Given the description of an element on the screen output the (x, y) to click on. 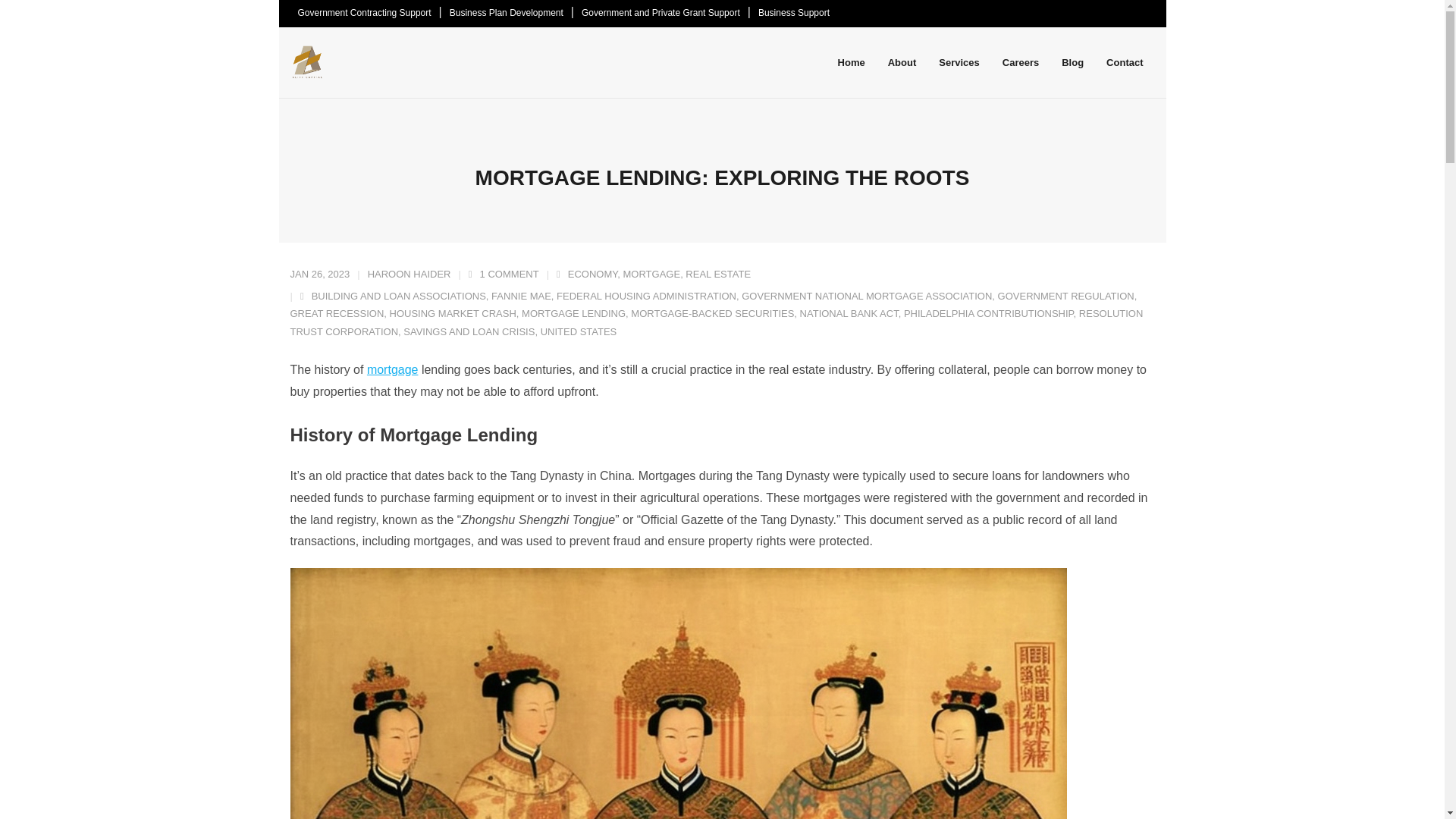
FANNIE MAE (521, 296)
JAN 26, 2023 (319, 274)
GOVERNMENT NATIONAL MORTGAGE ASSOCIATION (866, 296)
MORTGAGE (652, 274)
BUILDING AND LOAN ASSOCIATIONS (398, 296)
MORTGAGE-BACKED SECURITIES (711, 313)
HOUSING MARKET CRASH (453, 313)
RESOLUTION TRUST CORPORATION (715, 321)
Mortgage Lending: Exploring the Roots (319, 274)
ECONOMY (592, 274)
